Given the description of an element on the screen output the (x, y) to click on. 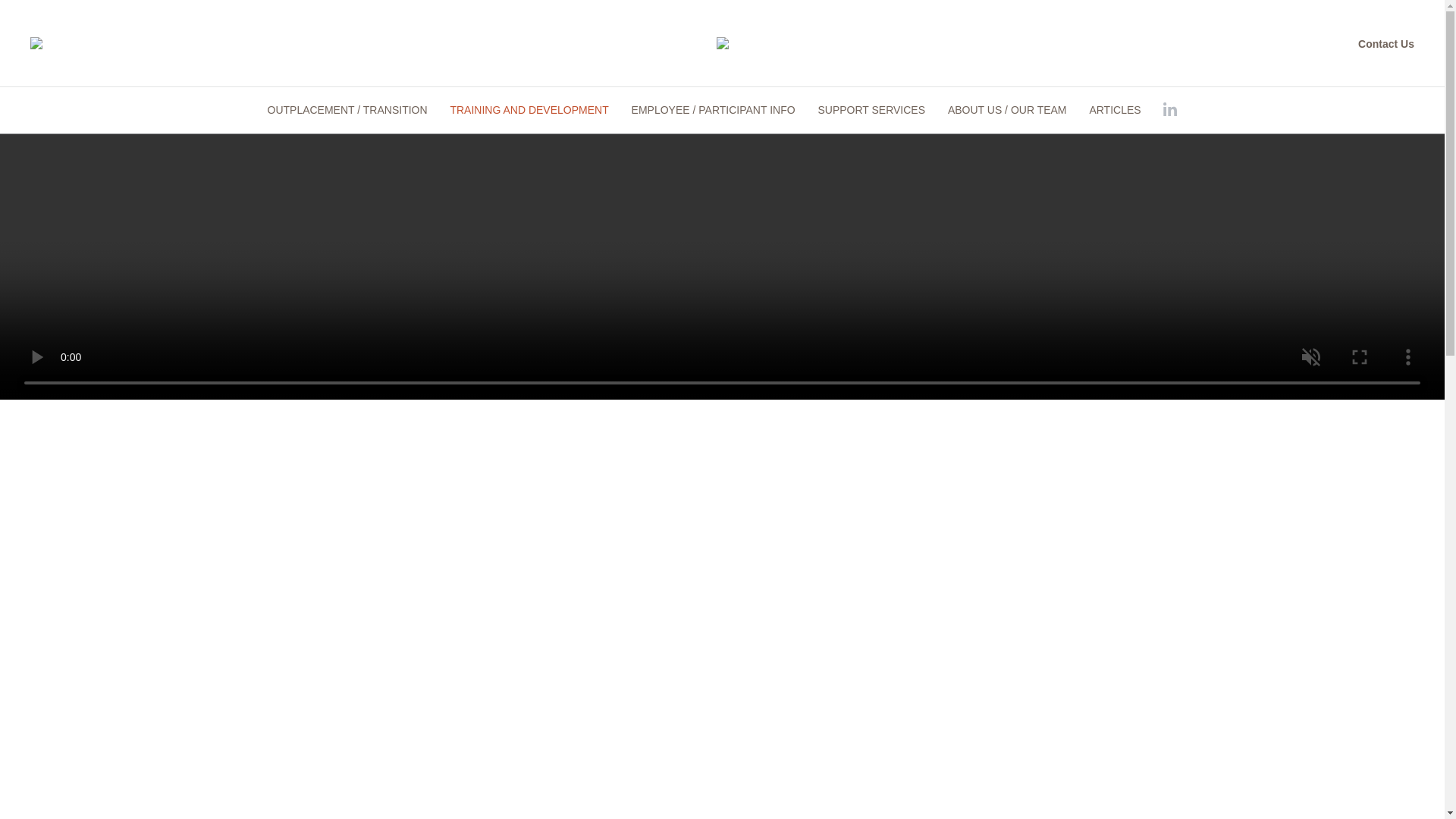
Contact Us (1385, 42)
